Given the description of an element on the screen output the (x, y) to click on. 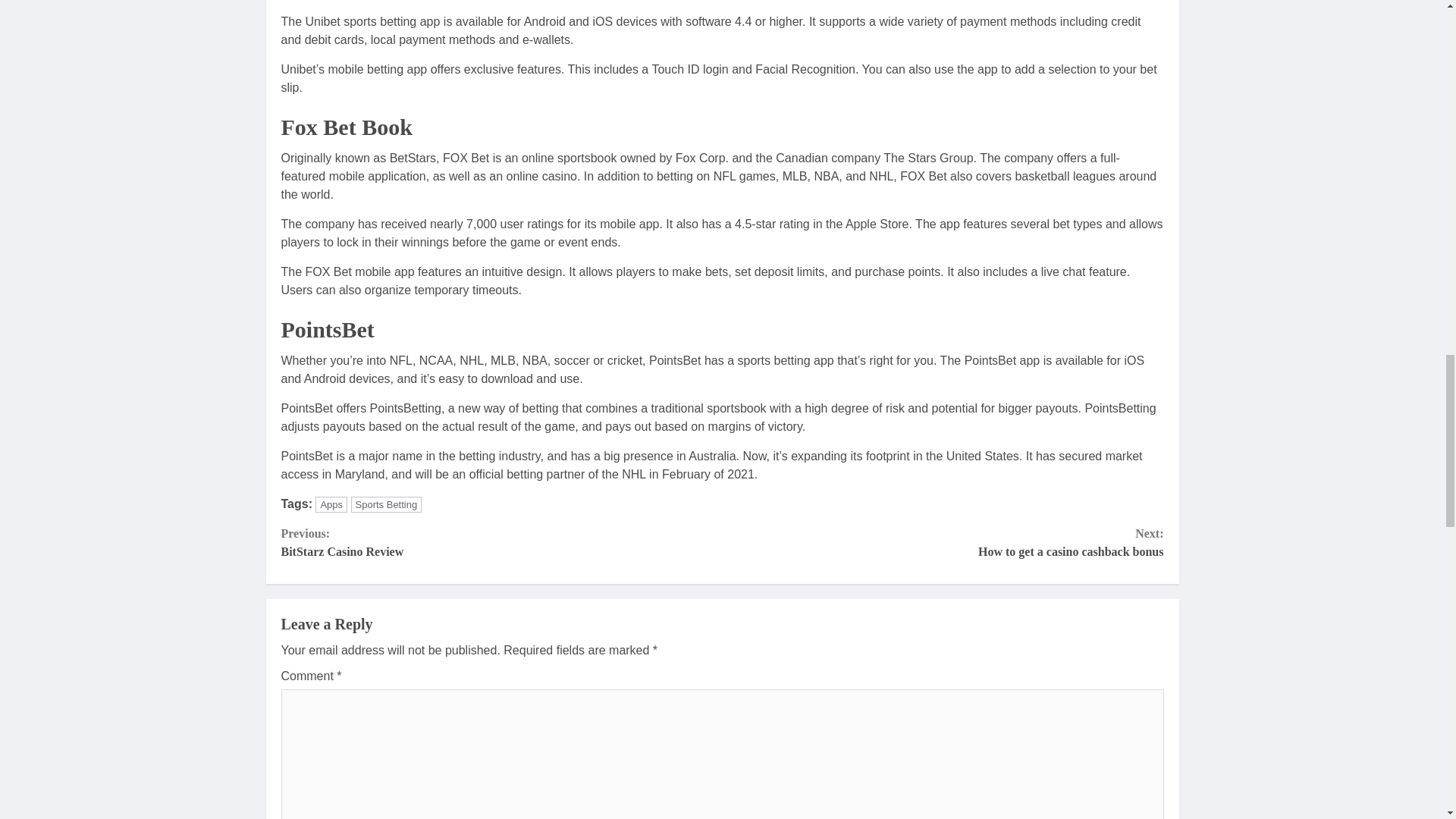
Sports Betting (501, 542)
Apps (386, 504)
